Given the description of an element on the screen output the (x, y) to click on. 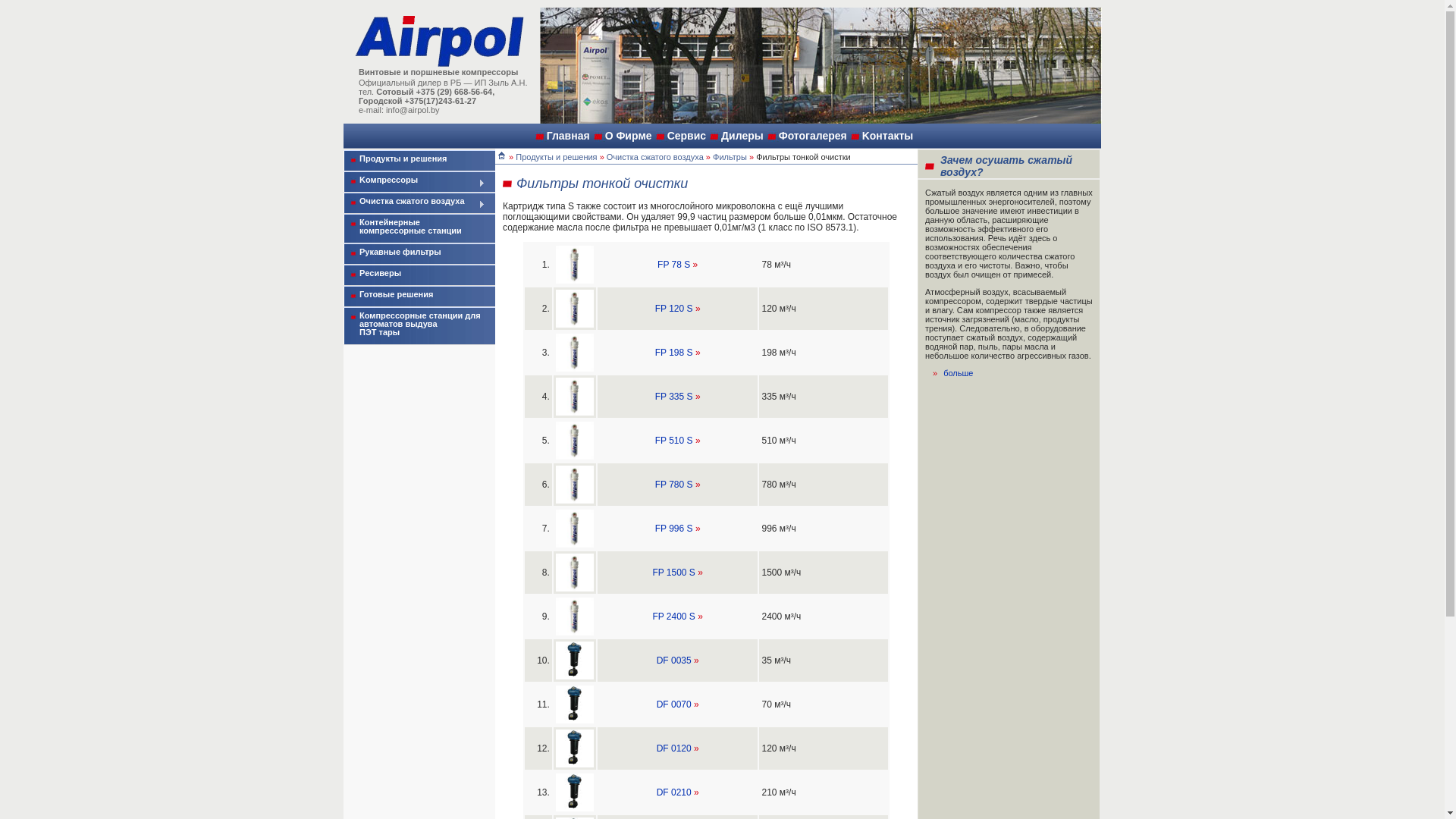
info@airpol.by Element type: text (412, 109)
